Given the description of an element on the screen output the (x, y) to click on. 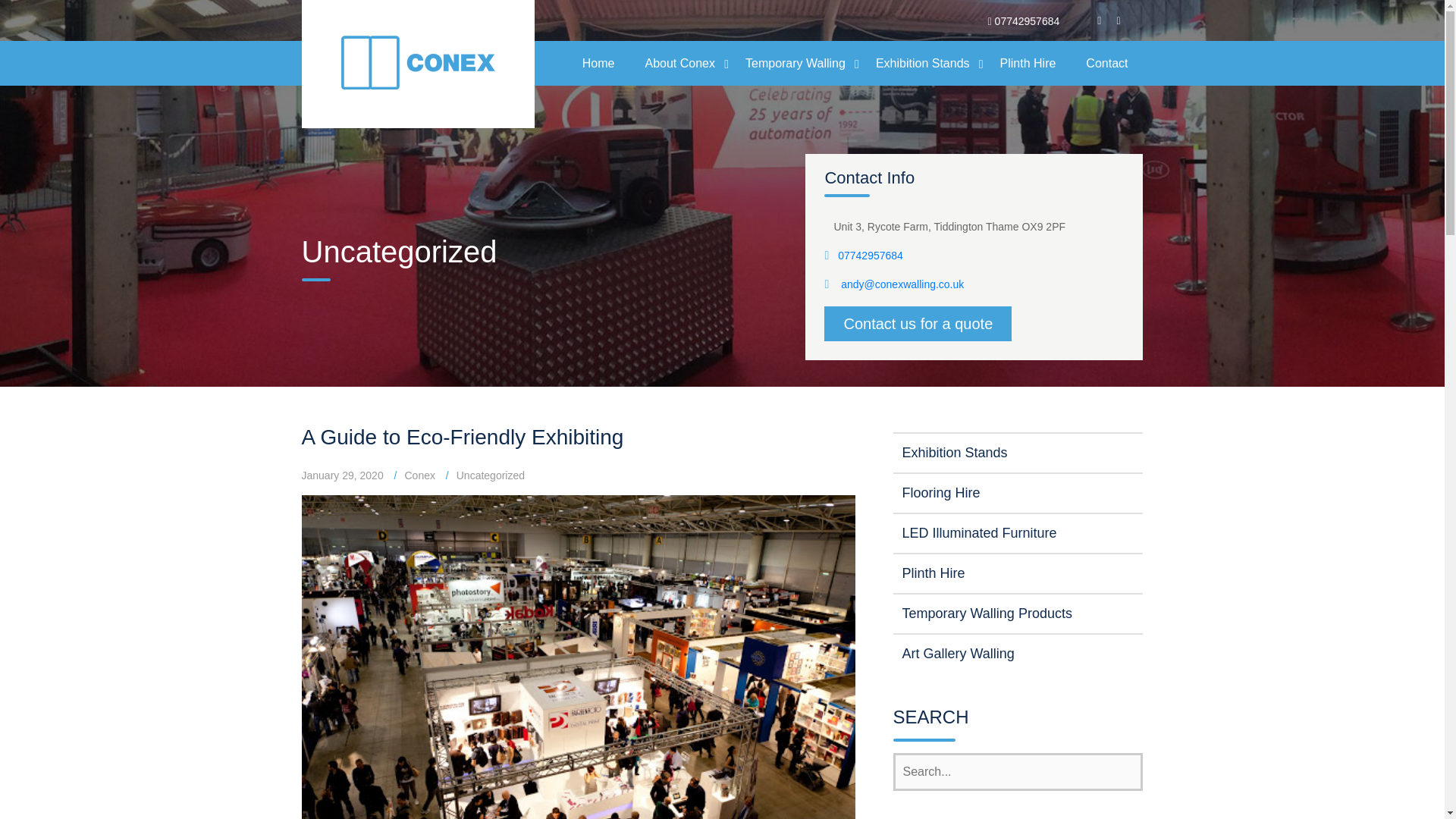
Contact us for a quote (917, 323)
About Conex (679, 62)
Temporary Walling Products (1017, 612)
LED Illuminated Furniture (1017, 532)
Plinth Hire (1017, 572)
Plinth Hire (1028, 62)
Temporary Walling (795, 62)
Contact (1106, 62)
Flooring Hire (1017, 492)
07742957684 (1026, 21)
Exhibition Stands (922, 62)
Exhibition Stands (1017, 452)
Home (598, 62)
07742957684 (870, 255)
